Given the description of an element on the screen output the (x, y) to click on. 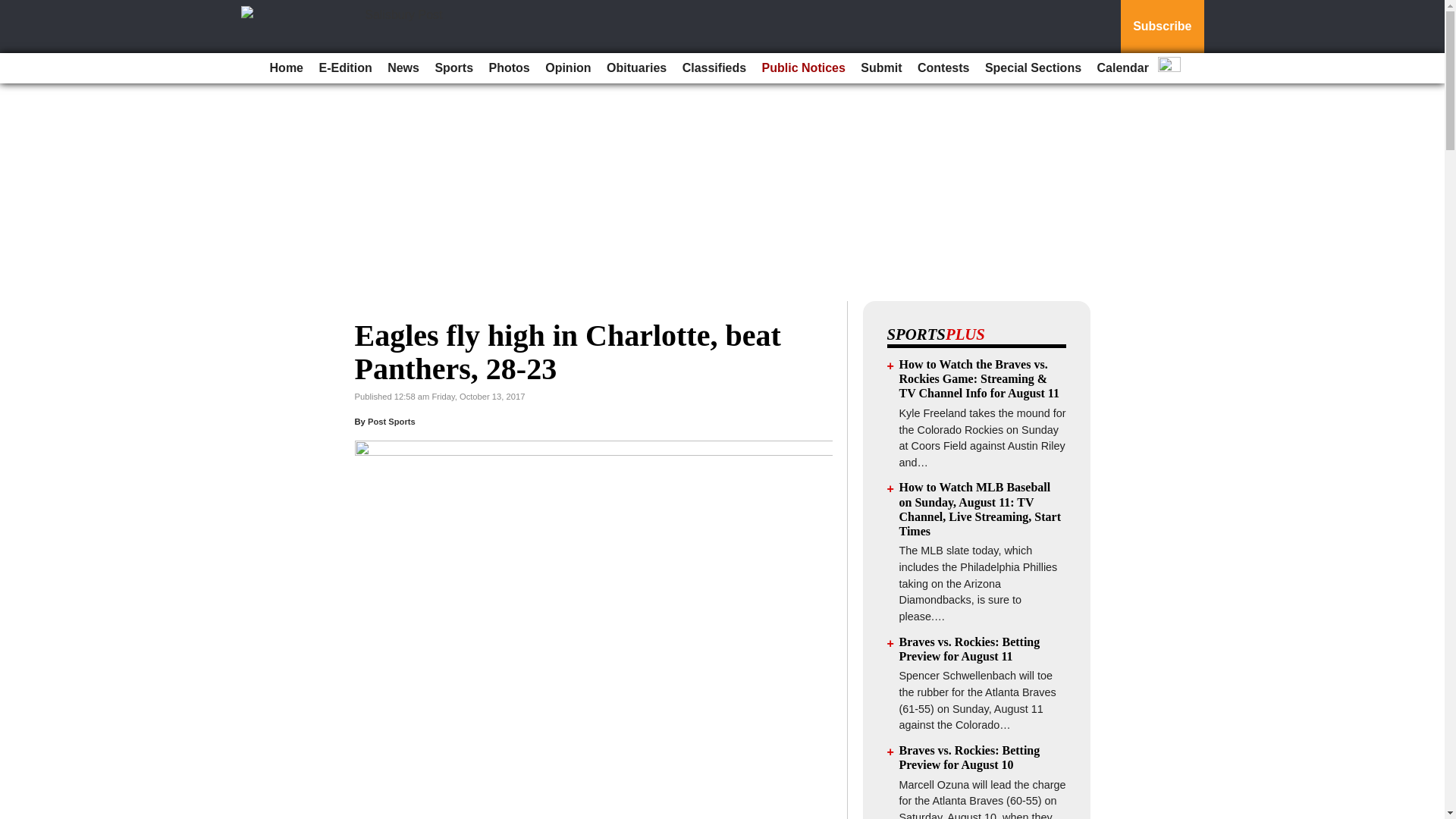
E-Edition (345, 68)
Subscribe (1162, 26)
News (403, 68)
Obituaries (635, 68)
Special Sections (1032, 68)
Classifieds (714, 68)
Photos (509, 68)
Home (285, 68)
Public Notices (803, 68)
Opinion (567, 68)
